Given the description of an element on the screen output the (x, y) to click on. 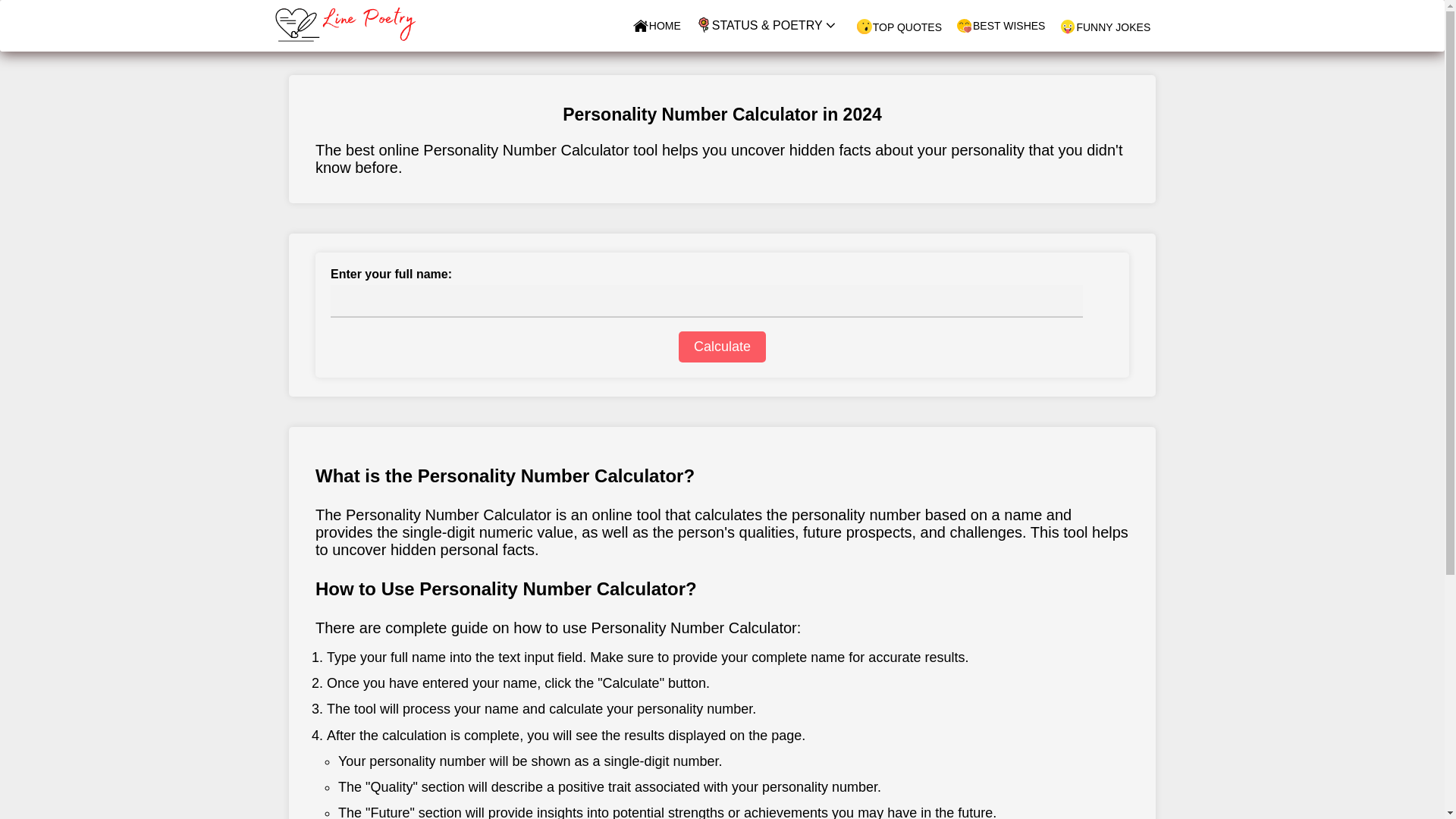
Calculate (721, 346)
FUNNY JOKES (1104, 27)
BEST WISHES (1000, 25)
TOP QUOTES (899, 27)
HOME (657, 25)
